Given the description of an element on the screen output the (x, y) to click on. 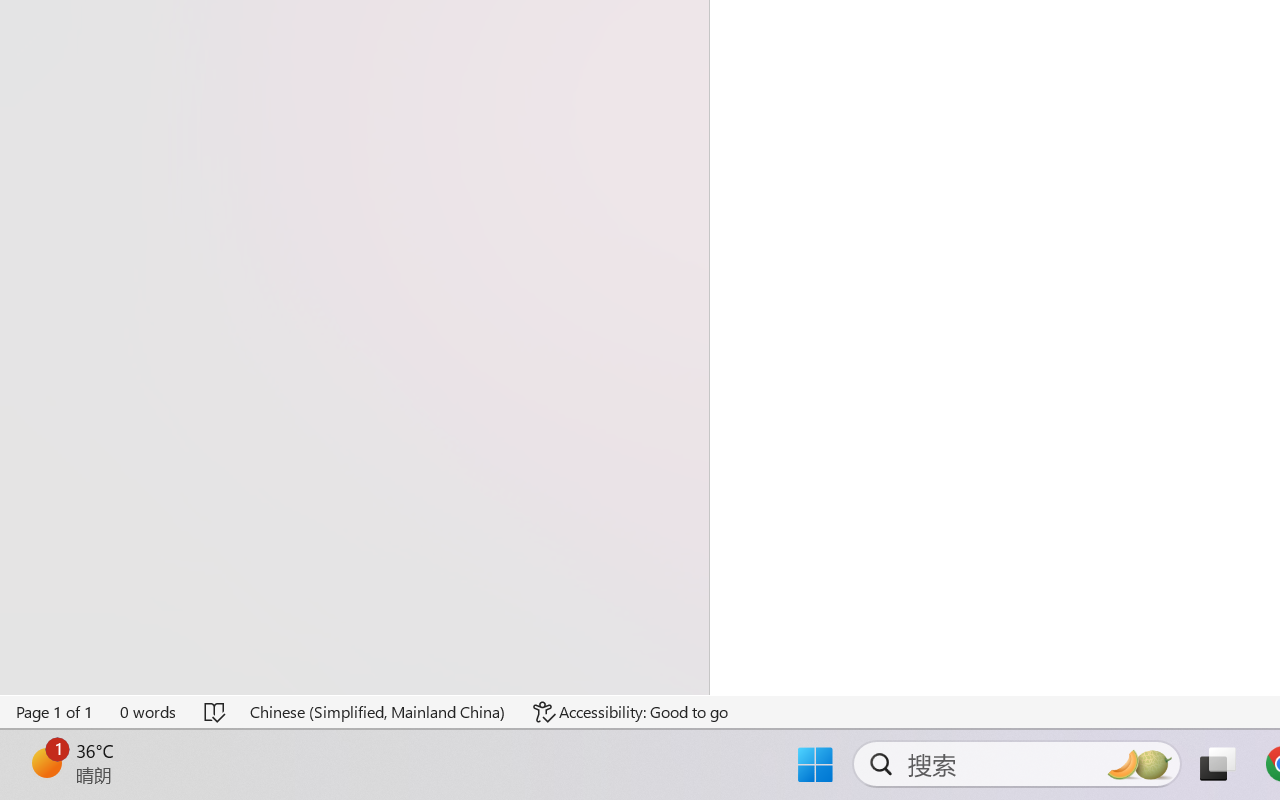
Language Chinese (Simplified, Mainland China) (378, 712)
